Given the description of an element on the screen output the (x, y) to click on. 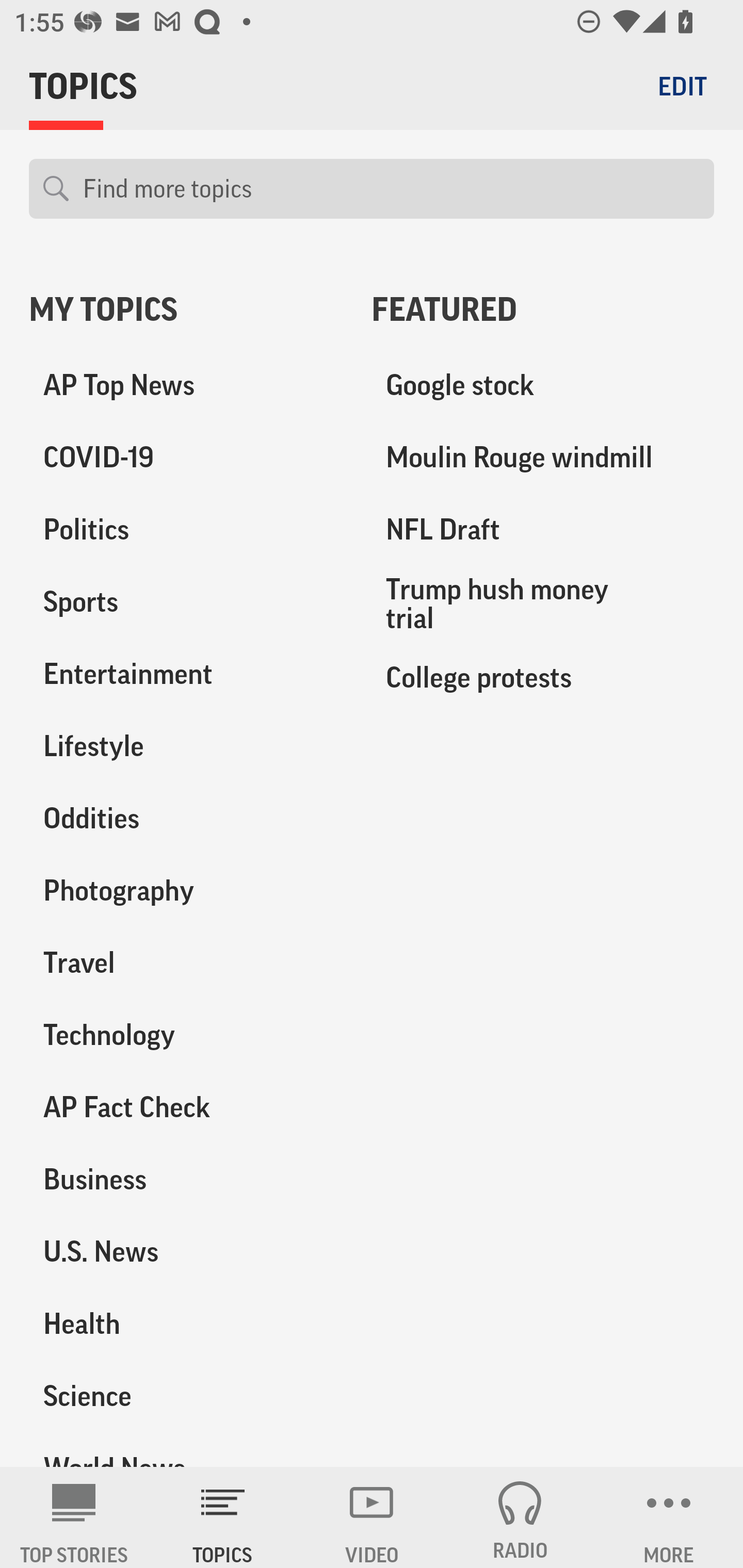
EDIT (682, 86)
Find more topics (391, 188)
AP Top News (185, 385)
Google stock (542, 385)
COVID-19 (185, 457)
Moulin Rouge windmill (542, 457)
Politics (185, 529)
NFL Draft (542, 529)
Sports (185, 602)
Trump hush money trial (542, 603)
Entertainment (185, 674)
College protests (542, 677)
Lifestyle (185, 746)
Oddities (185, 818)
Photography (185, 890)
Travel (185, 962)
Technology (185, 1034)
AP Fact Check (185, 1106)
Business (185, 1179)
U.S. News (185, 1251)
Health (185, 1323)
Science (185, 1395)
AP News TOP STORIES (74, 1517)
TOPICS (222, 1517)
VIDEO (371, 1517)
RADIO (519, 1517)
MORE (668, 1517)
